Given the description of an element on the screen output the (x, y) to click on. 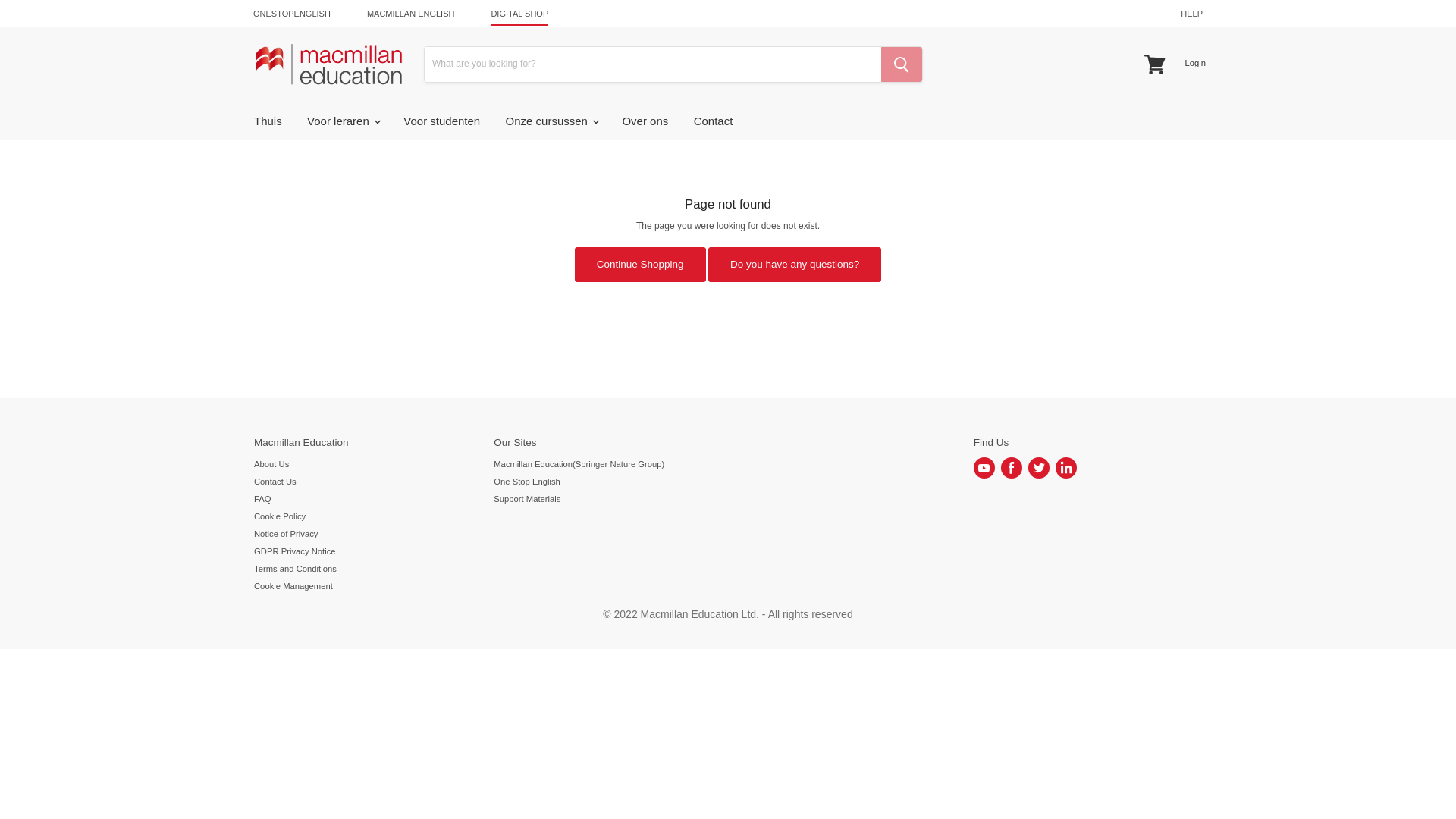
Voor studenten (441, 121)
LinkedIn (1066, 467)
ONESTOPENGLISH (291, 13)
Facebook (1011, 467)
HELP (1191, 13)
MACMILLAN ENGLISH (410, 13)
Onze cursussen (551, 121)
Youtube (984, 467)
Login (1194, 62)
DIGITAL SHOP (519, 13)
